Given the description of an element on the screen output the (x, y) to click on. 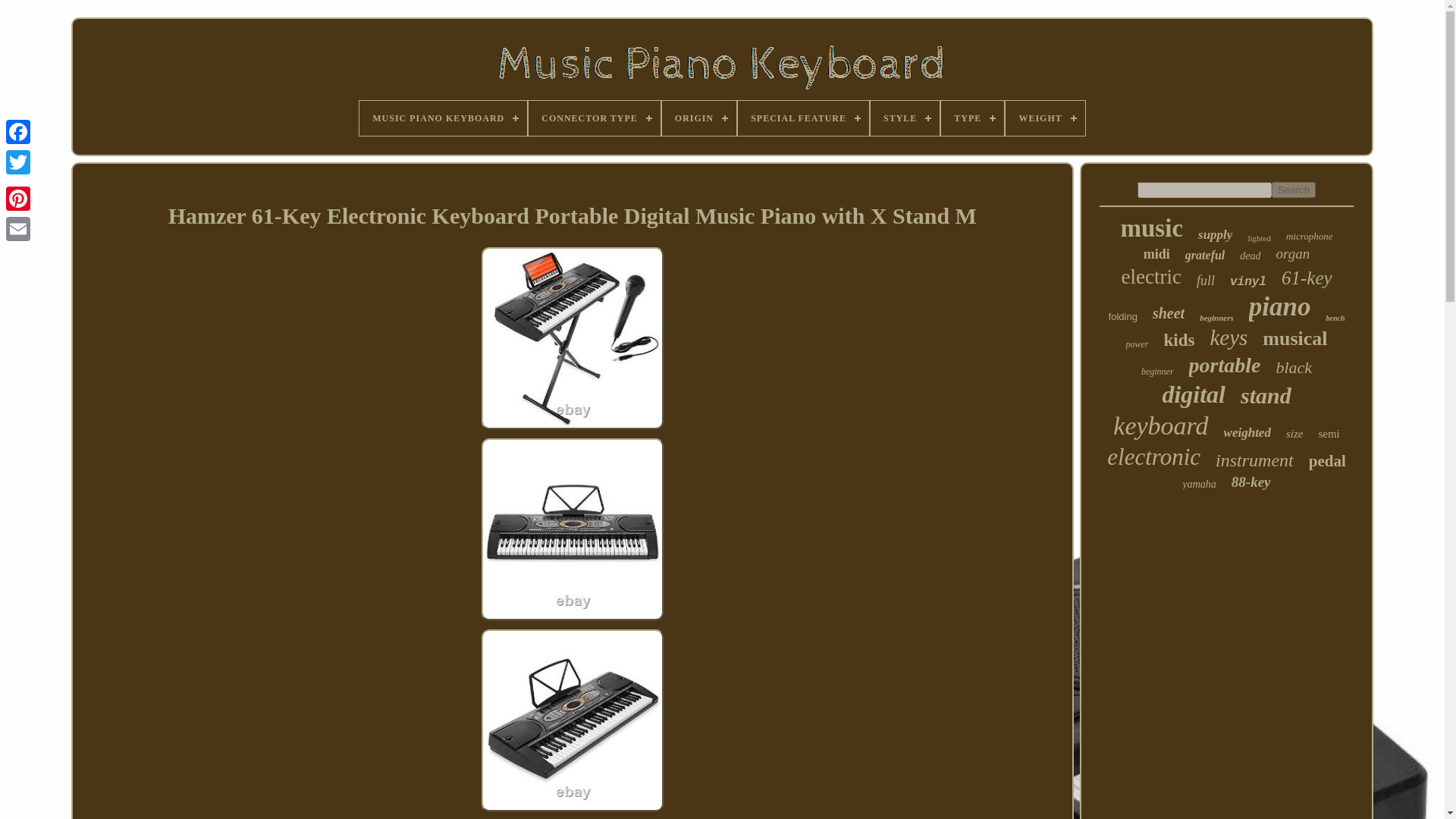
SPECIAL FEATURE (803, 117)
Search (1293, 189)
Pinterest (17, 198)
ORIGIN (699, 117)
CONNECTOR TYPE (594, 117)
MUSIC PIANO KEYBOARD (443, 117)
STYLE (904, 117)
